Given the description of an element on the screen output the (x, y) to click on. 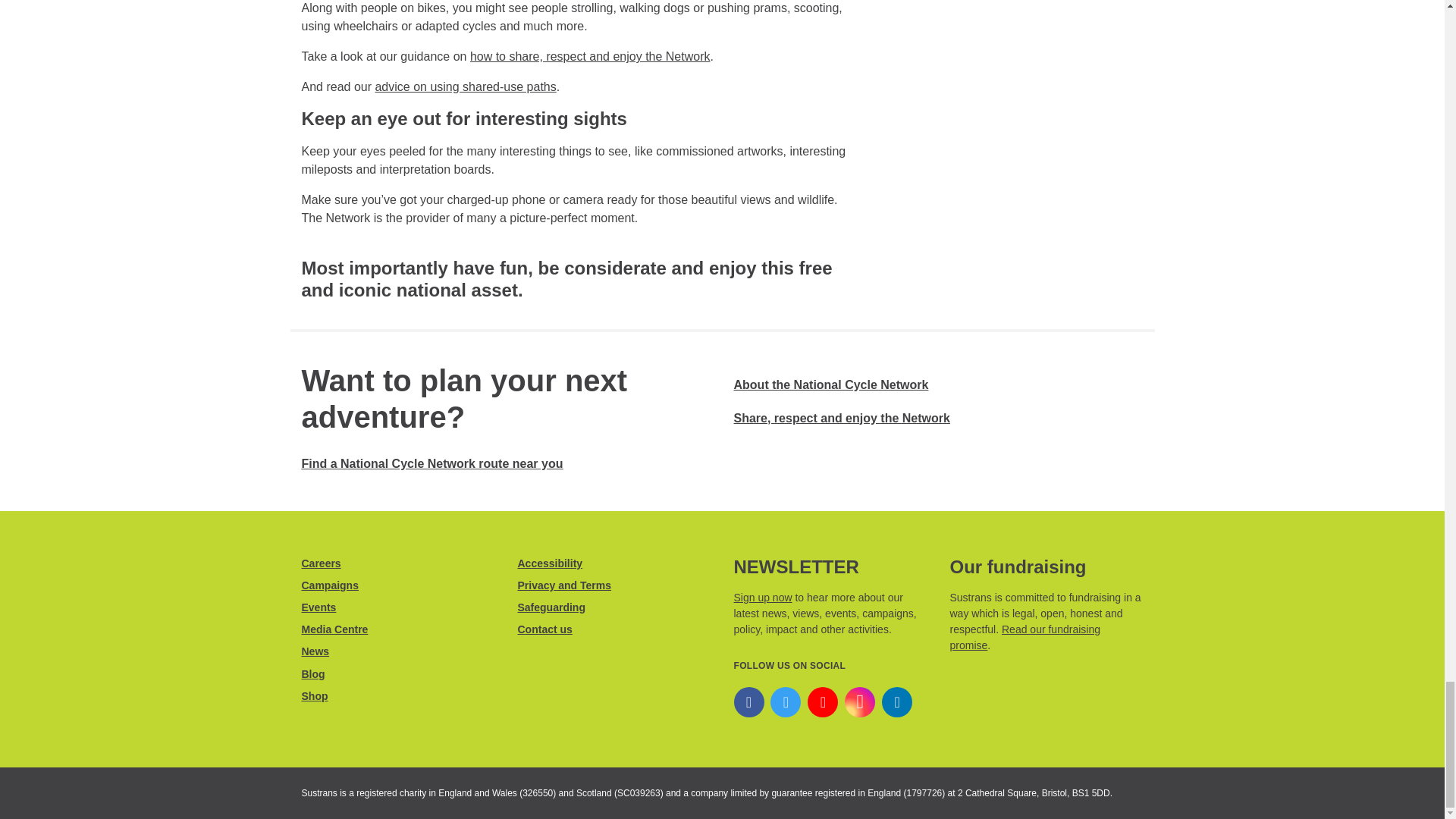
Advice on using shared-use paths (465, 86)
Share, respect and enjoy the National Cycle Network (590, 56)
Fundraising (1024, 637)
Sign up to our newsletter (762, 597)
